Given the description of an element on the screen output the (x, y) to click on. 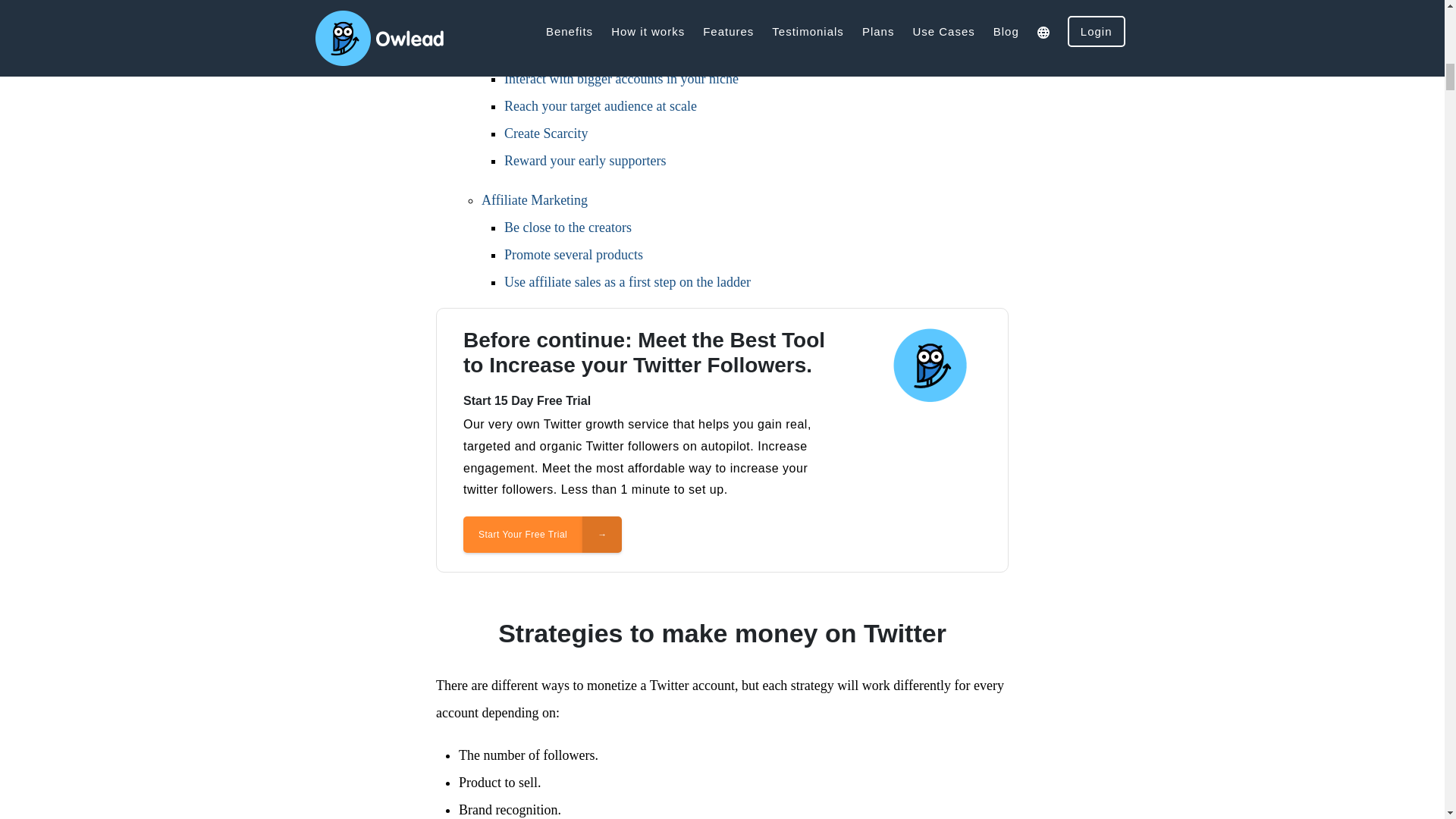
Share social validation with your audience (619, 23)
Create Scarcity (545, 133)
Create Scarcity (545, 133)
Interact with bigger accounts in your niche (620, 78)
Cross-promote with other creators (596, 51)
Reward your early supporters (584, 160)
Use affiliate sales as a first step on the ladder (627, 281)
Use affiliate sales as a first step on the ladder (627, 281)
Promote several products (573, 254)
Promote several products (573, 254)
Share social validation with your audience (619, 23)
Cross-promote with other creators (596, 51)
Affiliate Marketing (534, 200)
Be close to the creators (567, 227)
